Given the description of an element on the screen output the (x, y) to click on. 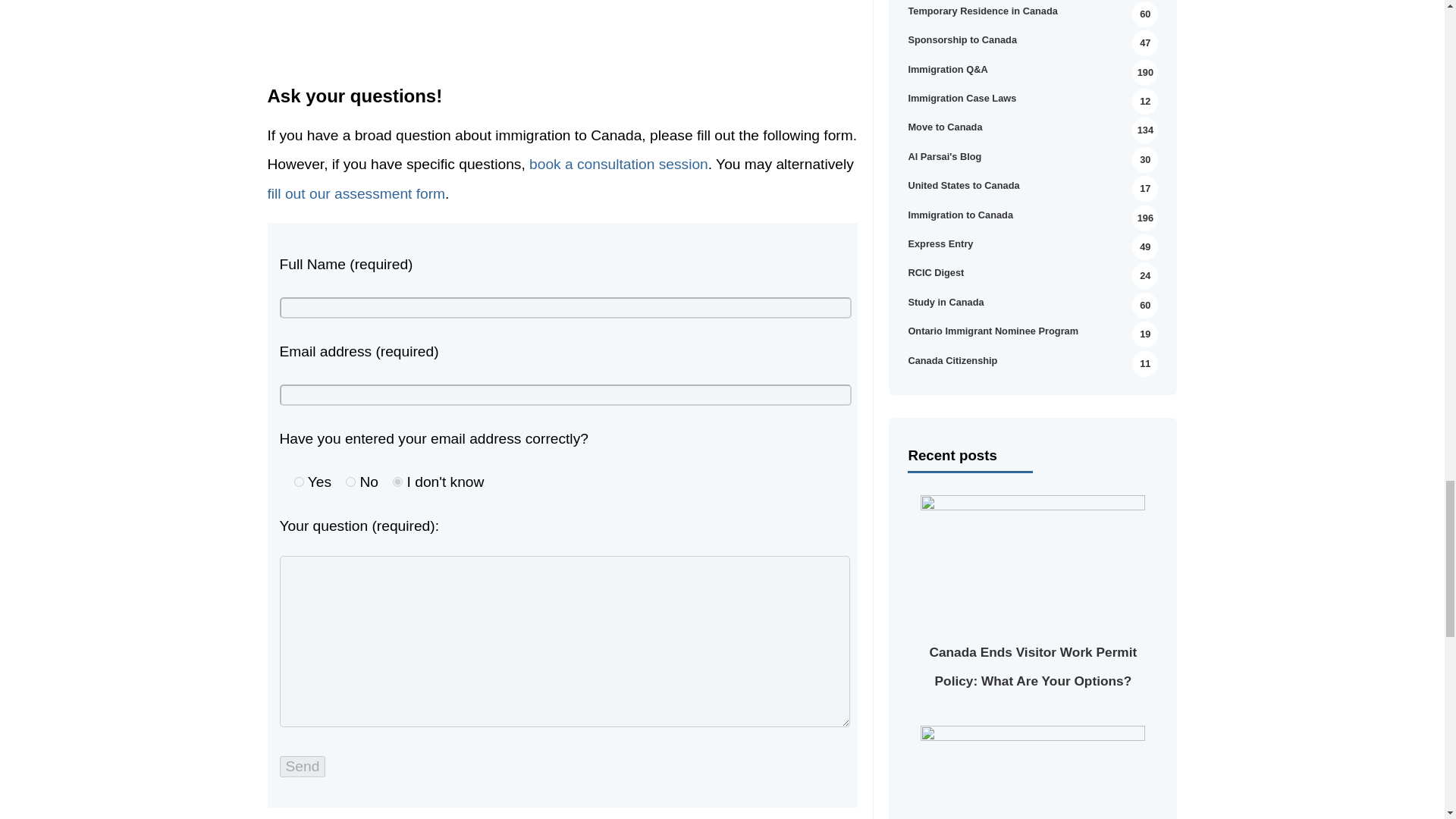
No (350, 481)
Yes (299, 481)
I don't know (398, 481)
Send (301, 766)
